Given the description of an element on the screen output the (x, y) to click on. 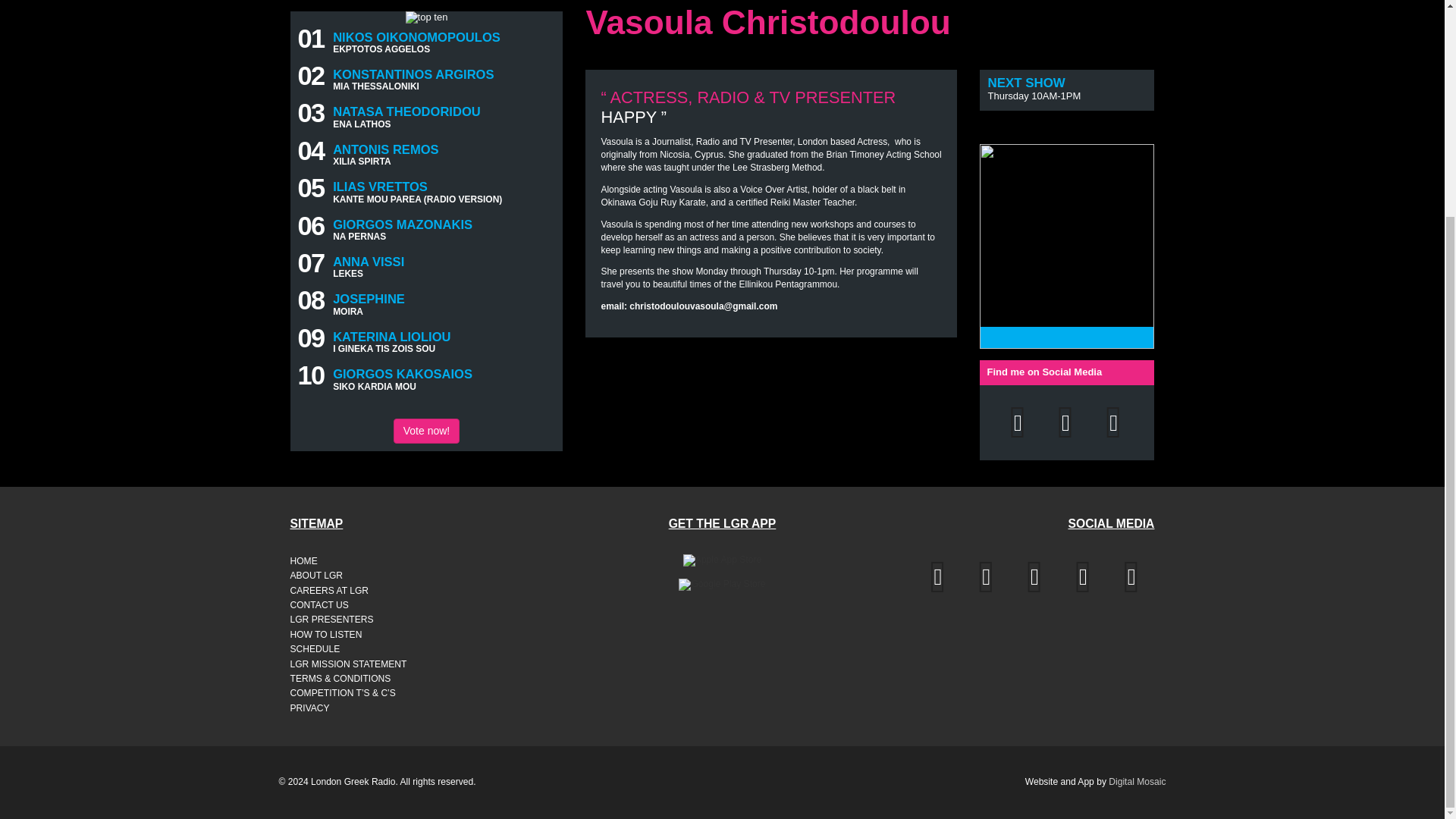
Get the LGR Android app from the Google Play Store (721, 584)
Get the LGR iOS app from the Apple App Store (721, 560)
CAREERS AT LGR (355, 590)
ABOUT LGR (355, 575)
Vote now! (426, 431)
HOME (355, 561)
